Given the description of an element on the screen output the (x, y) to click on. 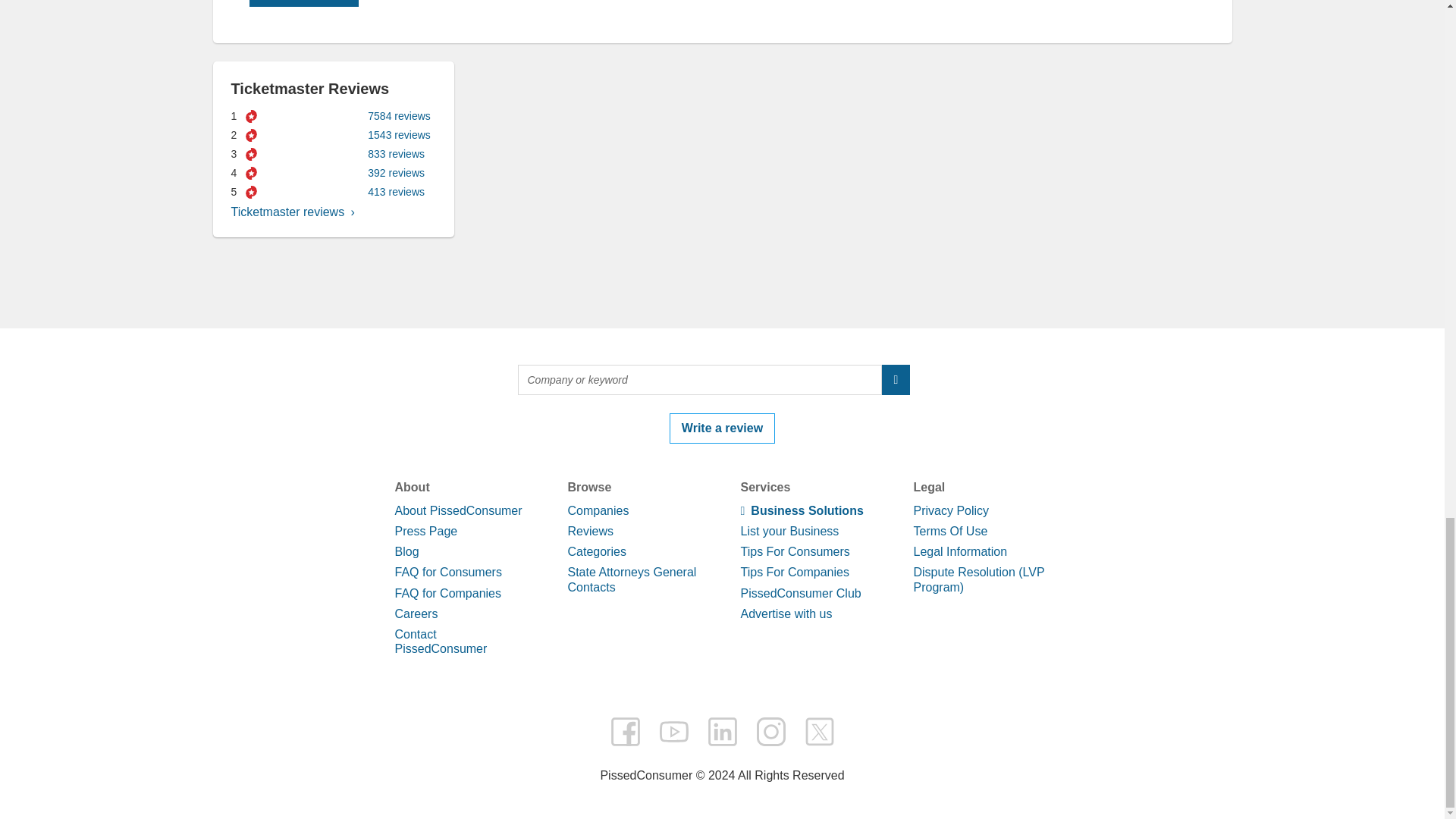
Terms Of Use (949, 530)
About PissedConsumer (457, 510)
Ticketmaster reviews (291, 211)
Tips For Consumers (793, 551)
FAQ for Consumers (447, 571)
Legal Information (959, 551)
Privacy Policy (950, 510)
Ticketmaster reviews and complaints (291, 211)
Advertise with us (785, 613)
Press Page (425, 530)
